Given the description of an element on the screen output the (x, y) to click on. 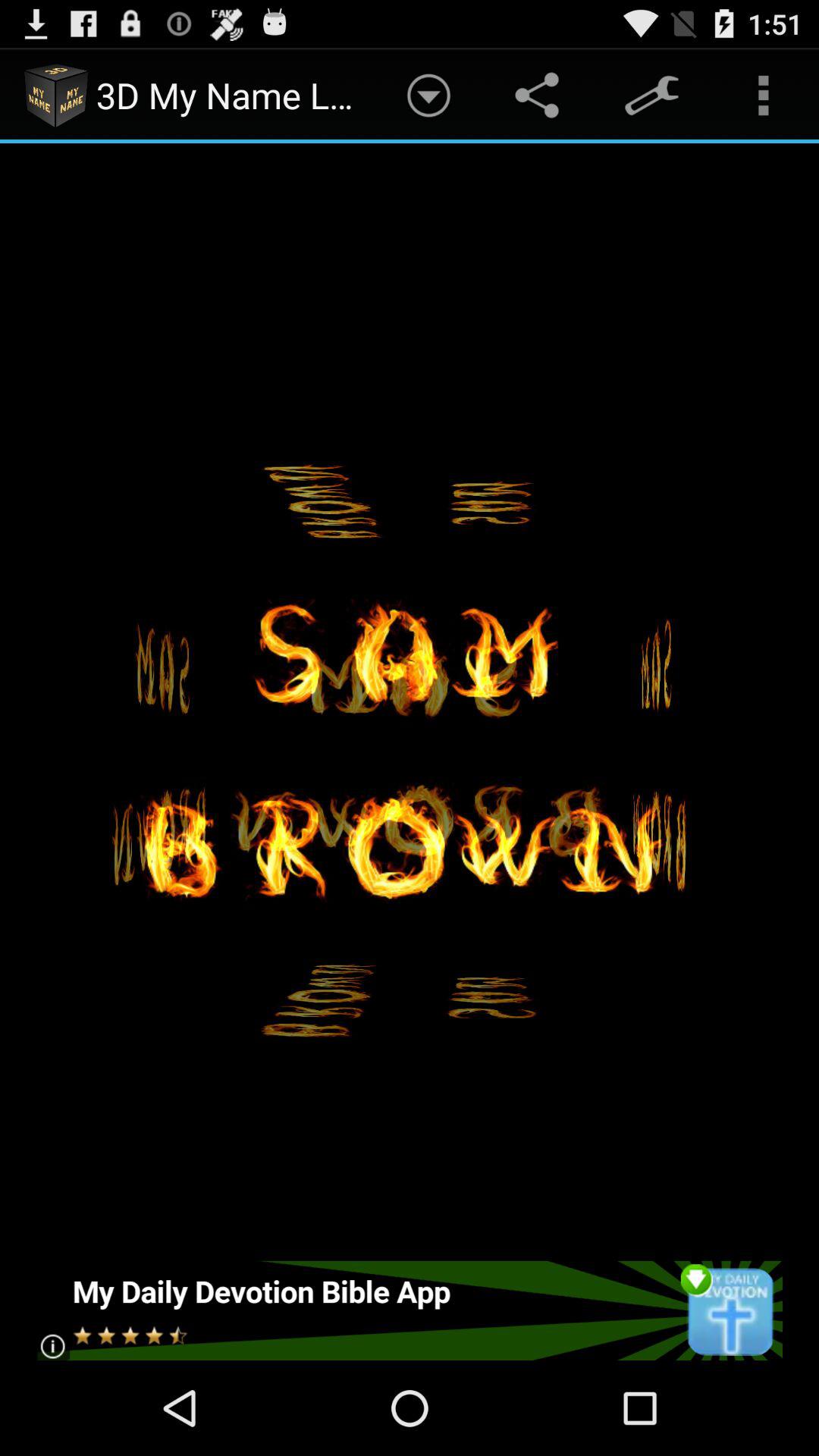
advertisement banner (408, 1310)
